Given the description of an element on the screen output the (x, y) to click on. 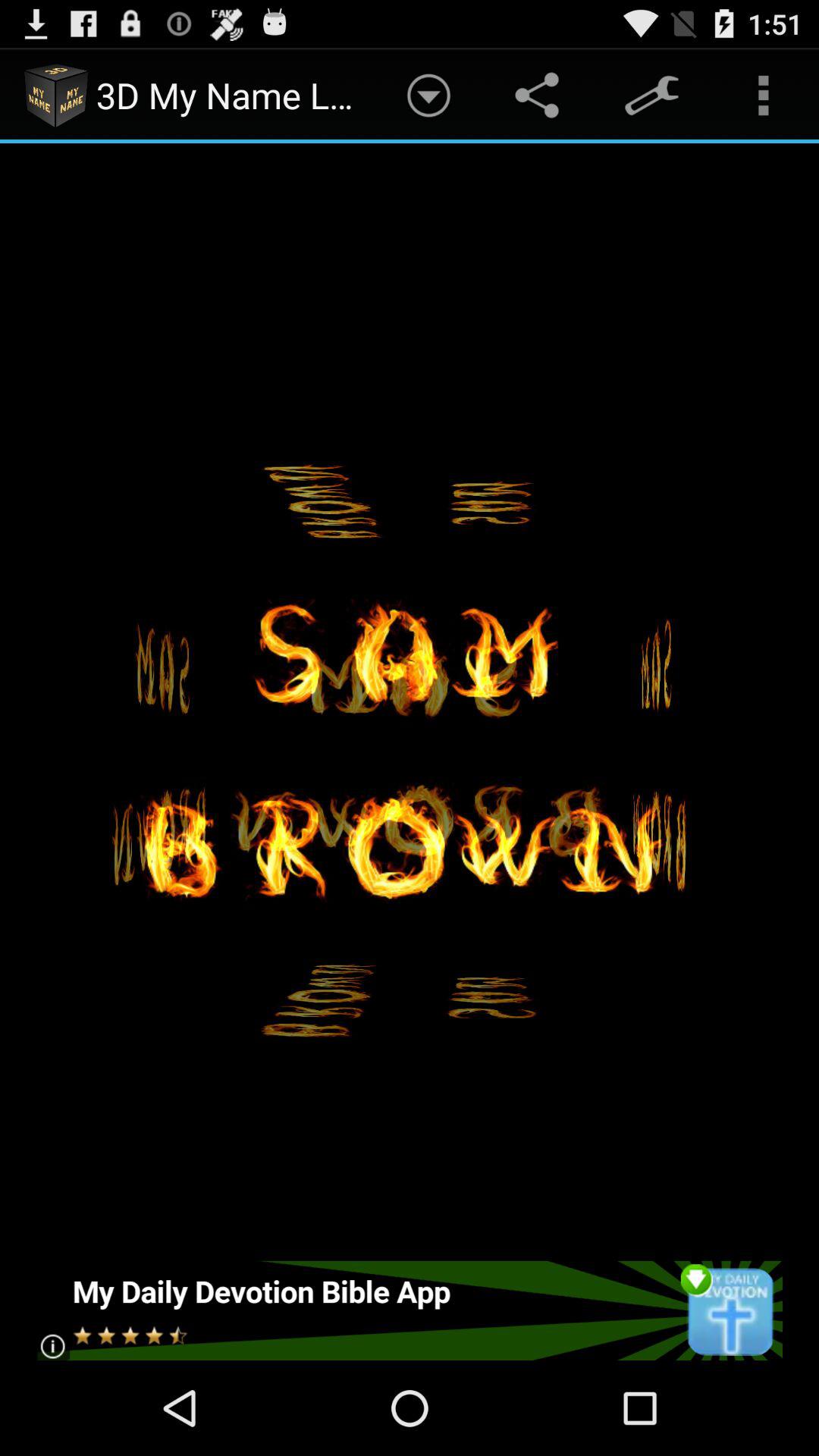
advertisement banner (408, 1310)
